Given the description of an element on the screen output the (x, y) to click on. 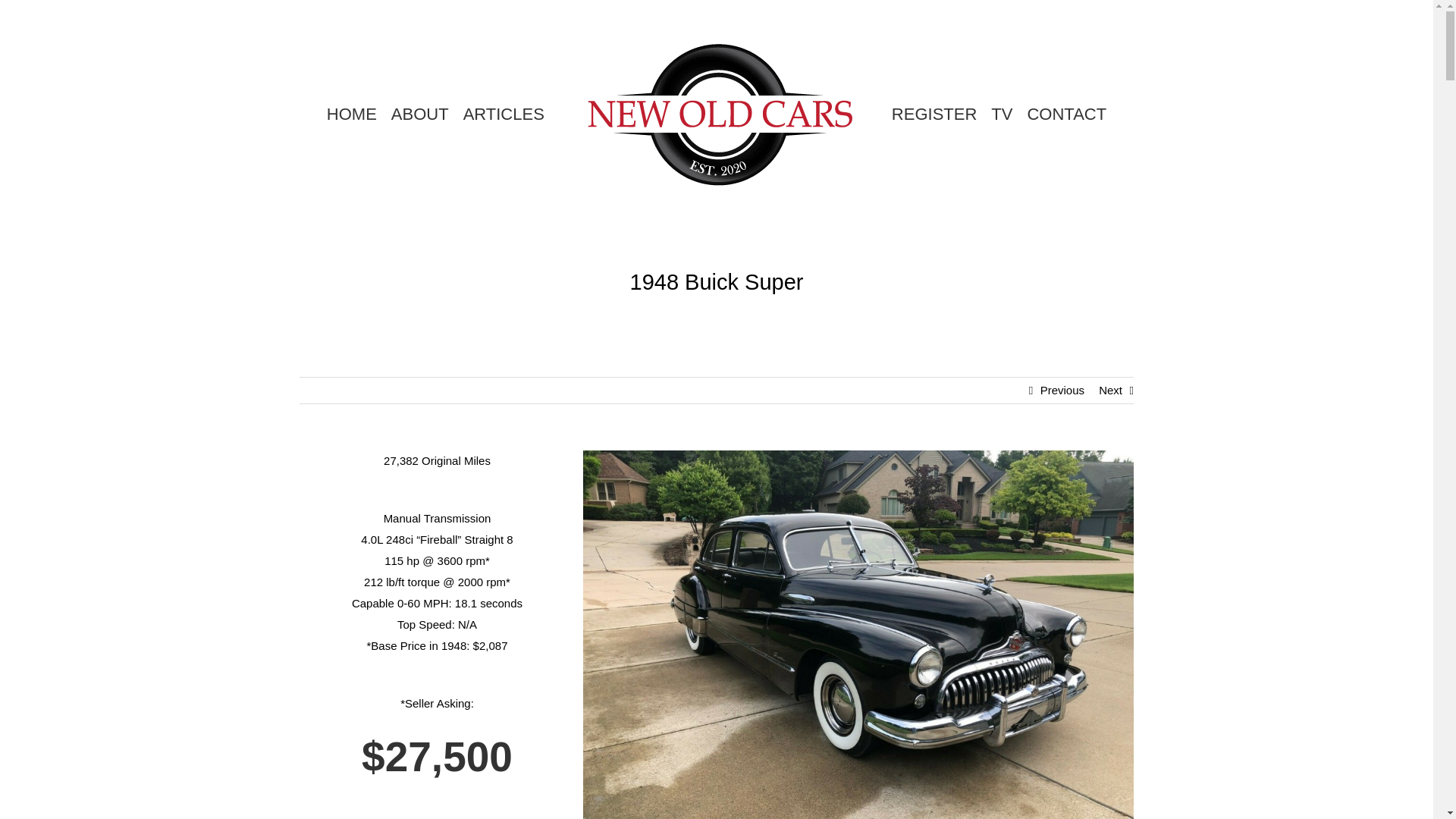
CONTACT (1066, 114)
ARTICLES (503, 114)
Next (1110, 390)
Previous (1062, 390)
ABOUT (419, 114)
REGISTER (933, 114)
